Given the description of an element on the screen output the (x, y) to click on. 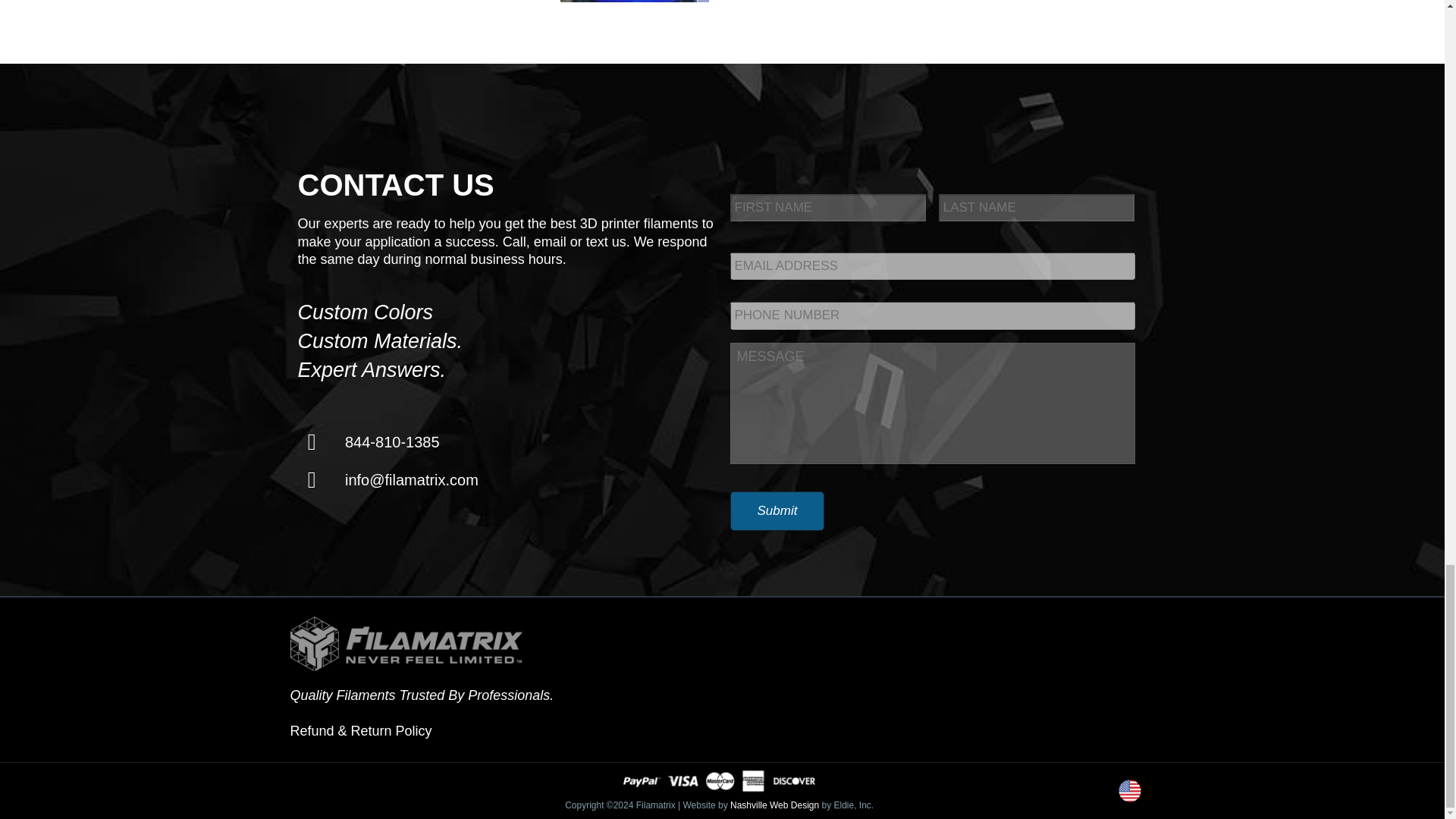
Submit (776, 510)
